Given the description of an element on the screen output the (x, y) to click on. 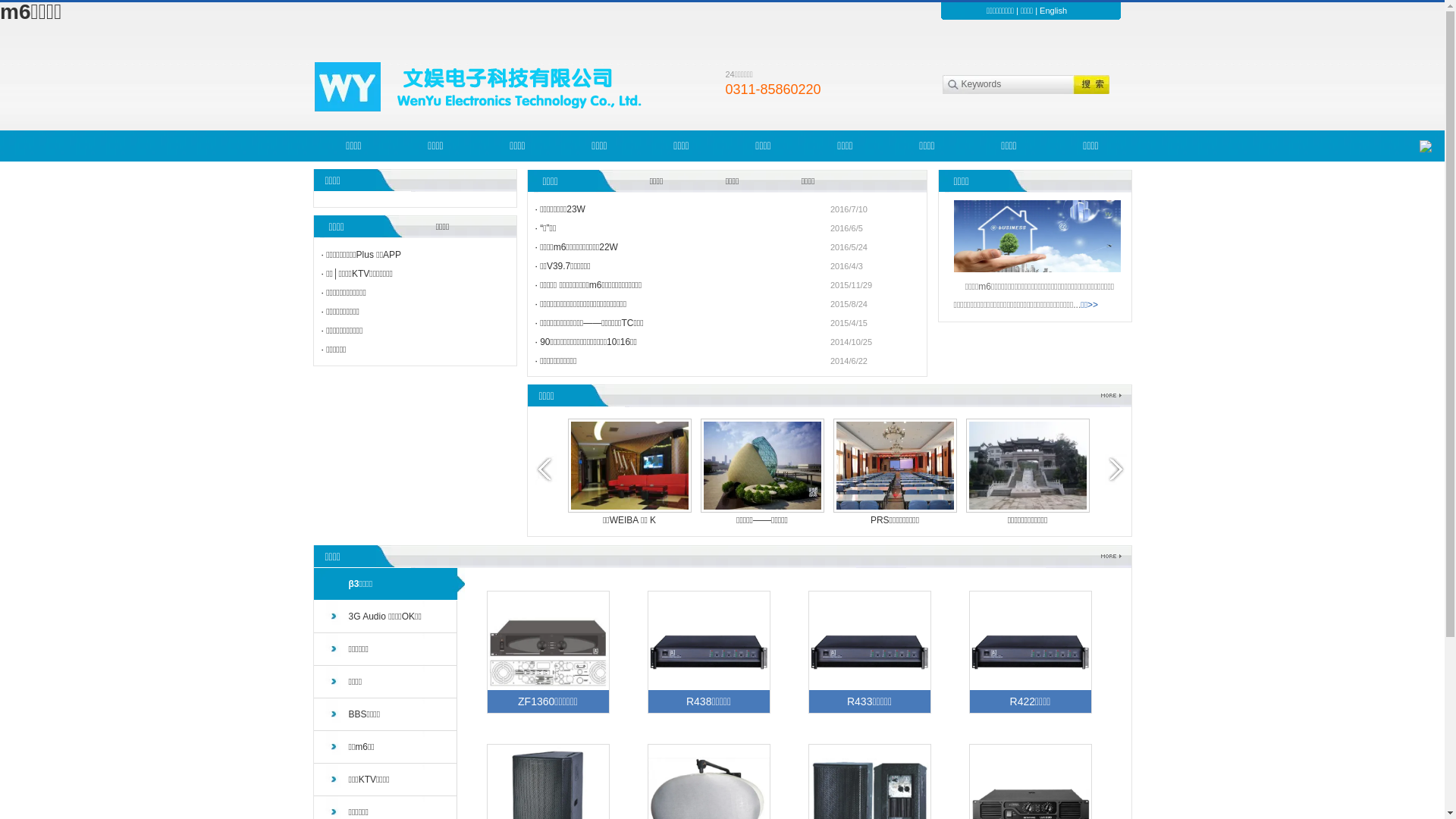
  Element type: text (1087, 84)
English Element type: text (1052, 10)
